Given the description of an element on the screen output the (x, y) to click on. 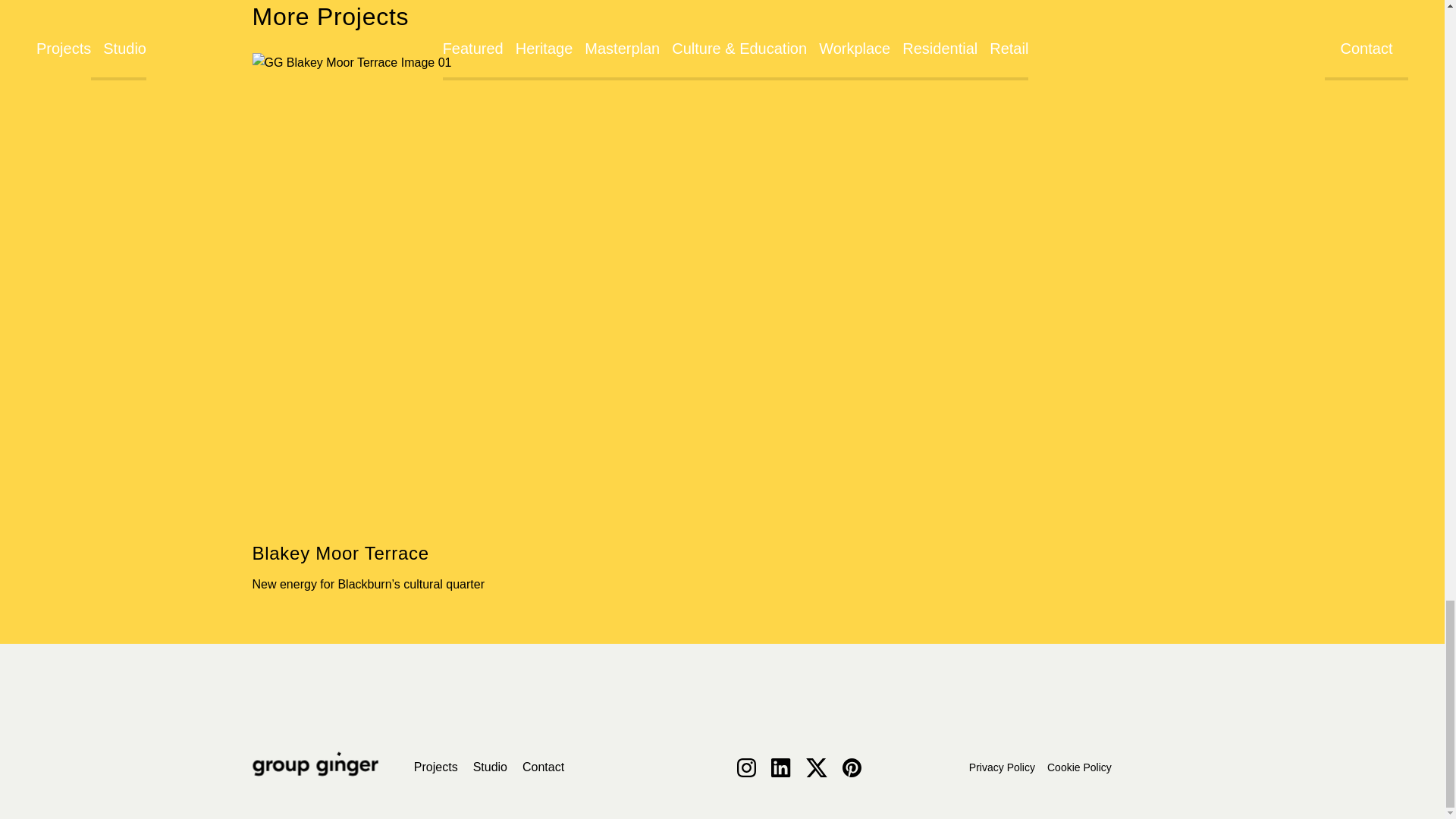
Pinterest (852, 767)
Instagram (745, 767)
Studio (489, 767)
Twitter (816, 767)
Contact (543, 767)
Projects (435, 767)
LinkedIn (780, 767)
